Given the description of an element on the screen output the (x, y) to click on. 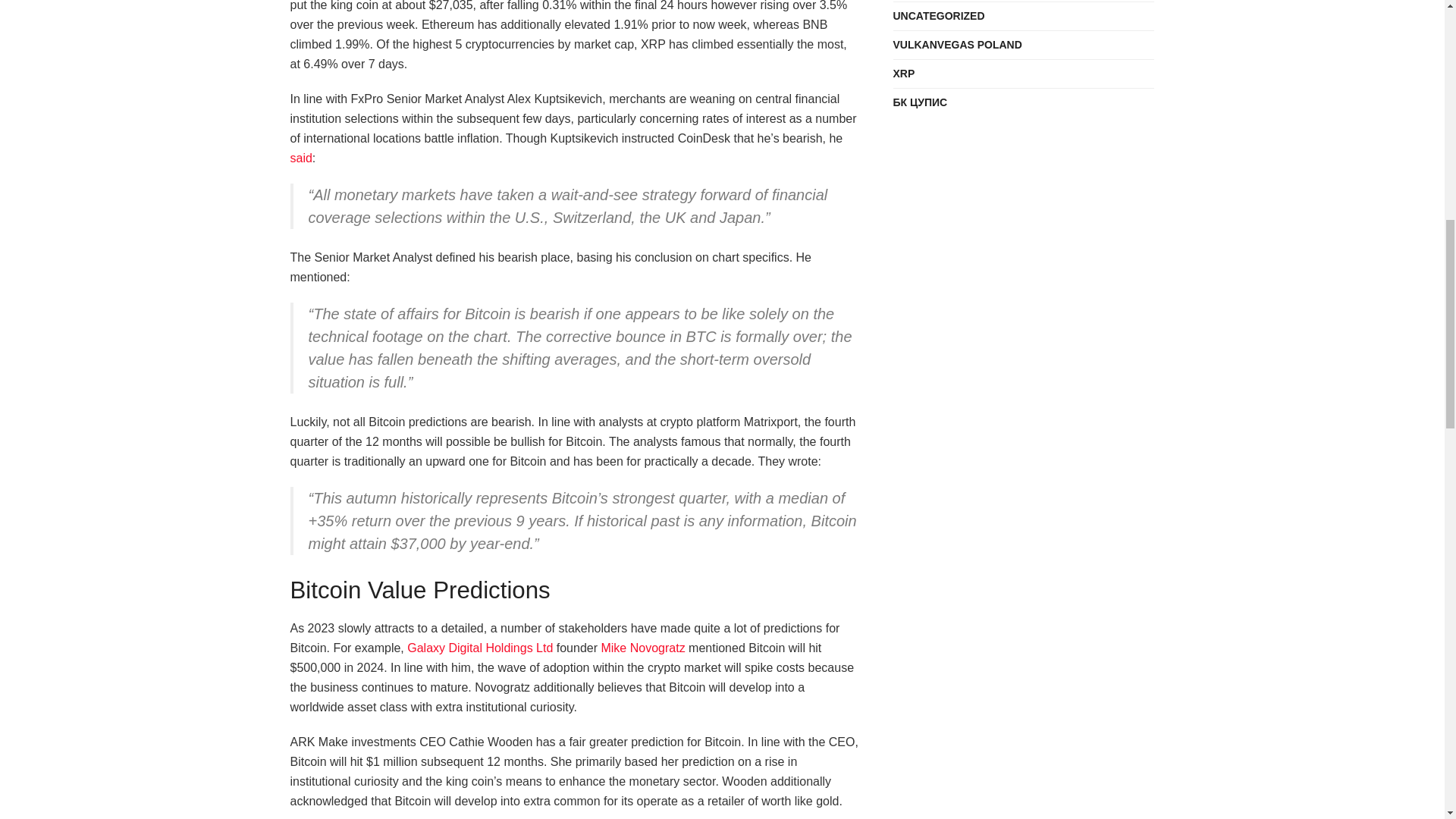
Galaxy Digital Holdings Ltd (480, 647)
Mike Novogratz (641, 647)
said (300, 157)
